Given the description of an element on the screen output the (x, y) to click on. 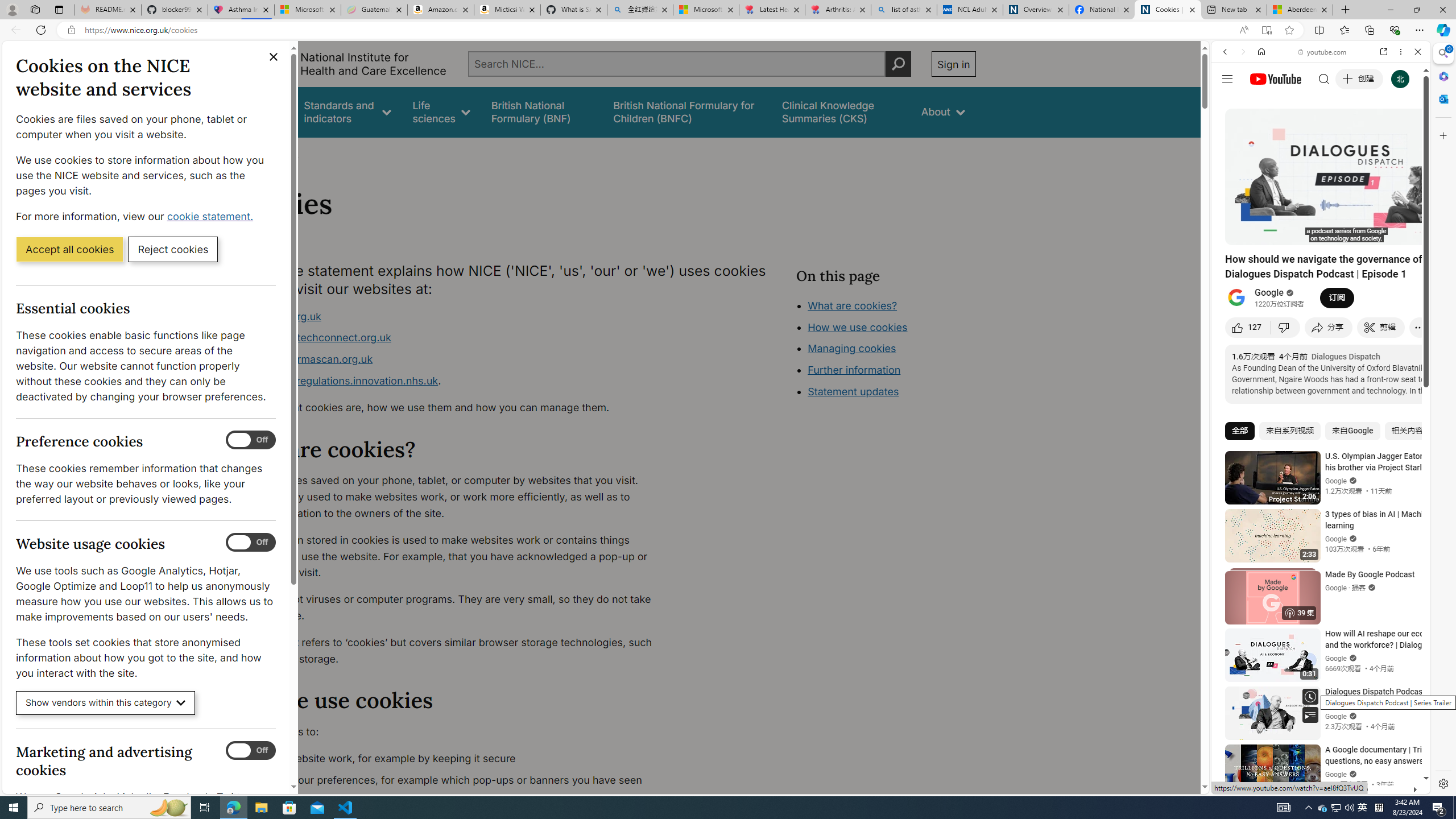
Trailer #2 [HD] (1320, 336)
SEARCH TOOLS (1350, 130)
www.digitalregulations.innovation.nhs.uk (338, 380)
How we use cookies (857, 327)
www.healthtechconnect.org.uk (452, 338)
Guidance (260, 111)
Aberdeen, Hong Kong SAR hourly forecast | Microsoft Weather (1300, 9)
you (1315, 755)
cookie statement. (Opens in a new window) (211, 215)
